Given the description of an element on the screen output the (x, y) to click on. 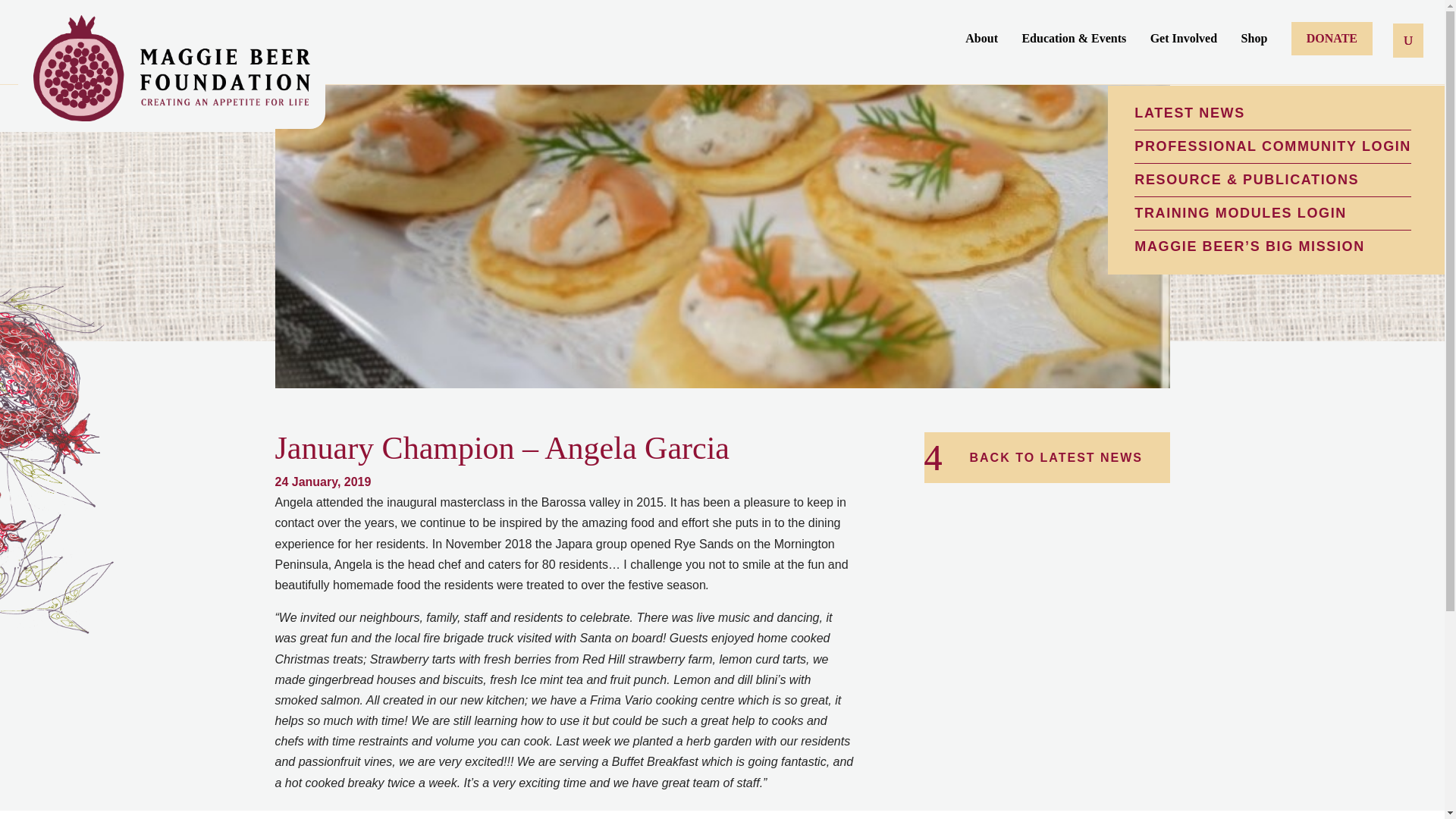
TRAINING MODULES LOGIN (1272, 212)
BACK TO LATEST NEWS (1046, 457)
Get Involved (1183, 52)
PROFESSIONAL COMMUNITY LOGIN (1272, 146)
DONATE (1332, 38)
LATEST NEWS (1272, 113)
